Given the description of an element on the screen output the (x, y) to click on. 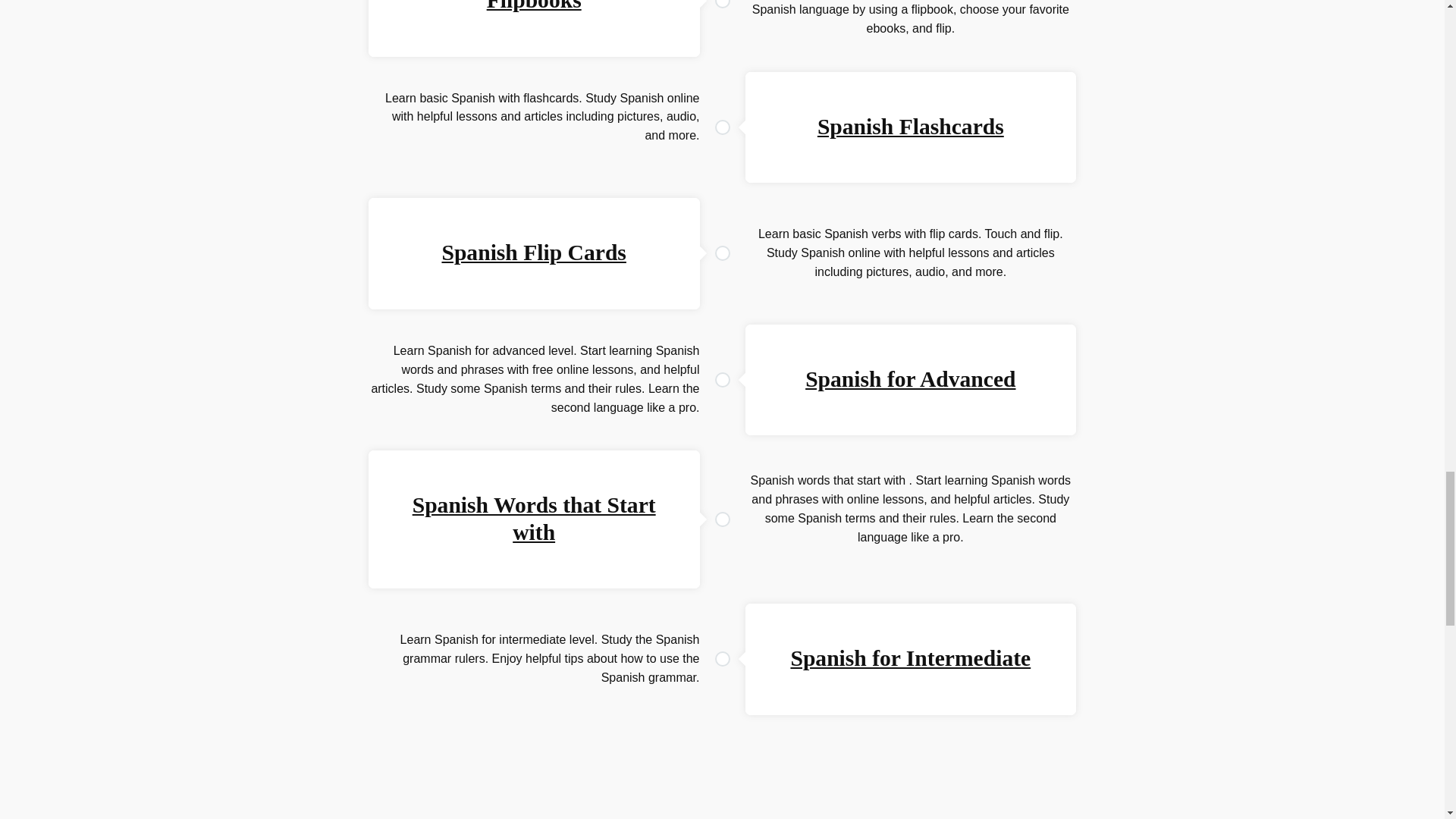
Spanish for Advanced (909, 378)
Spanish Flashcards (910, 126)
Spanish for Intermediate (910, 658)
Spanish Words that Start with (534, 518)
Flipbooks (533, 6)
Spanish Flip Cards (533, 252)
